Given the description of an element on the screen output the (x, y) to click on. 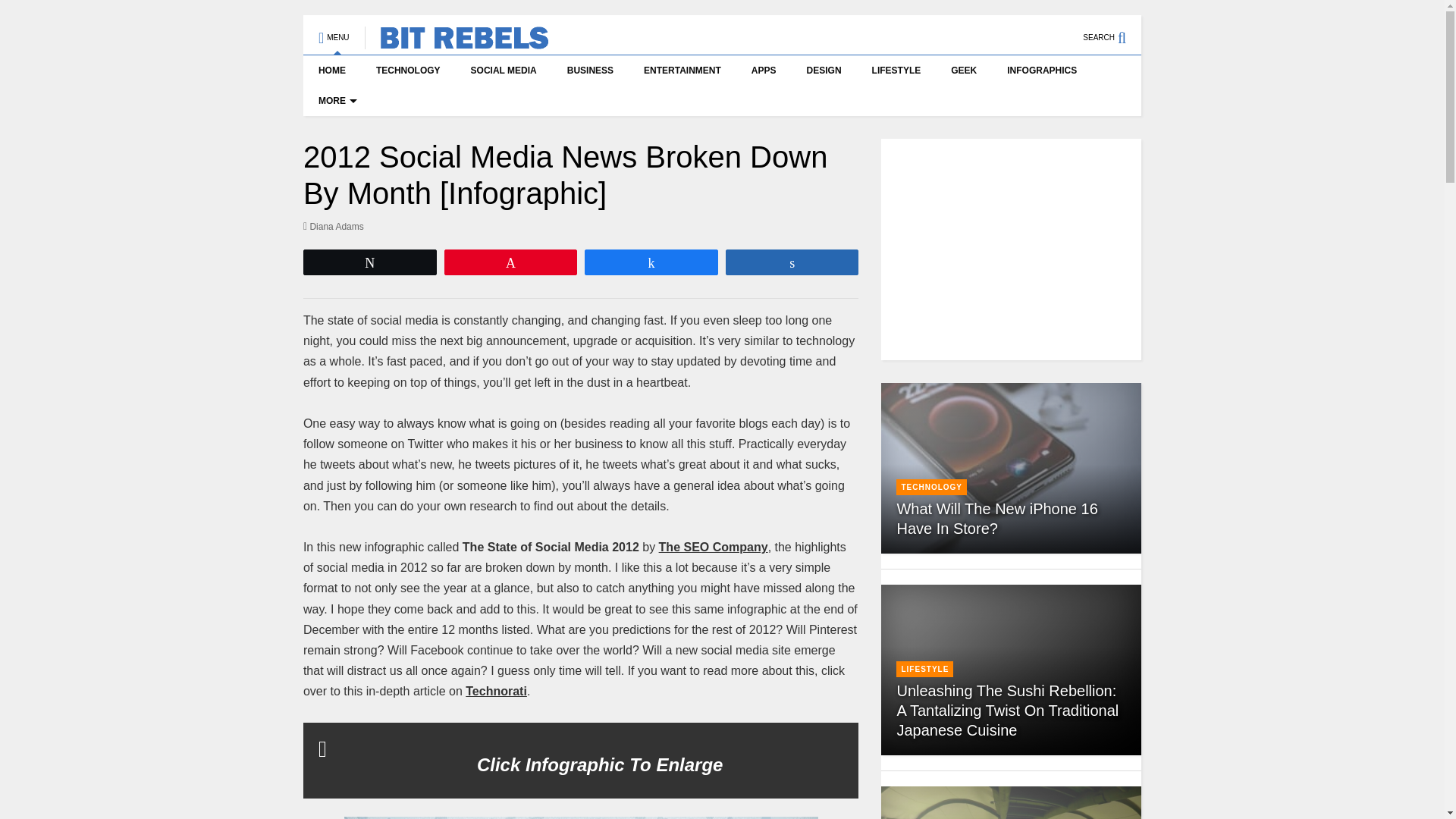
Diana Adams (333, 226)
MORE (335, 100)
What Will The New iPhone 16 Have In Store? (1010, 467)
Diana Adams (333, 226)
APPS (764, 70)
DESIGN (824, 70)
GEEK (963, 70)
BUSINESS (589, 70)
TECHNOLOGY (408, 70)
